Given the description of an element on the screen output the (x, y) to click on. 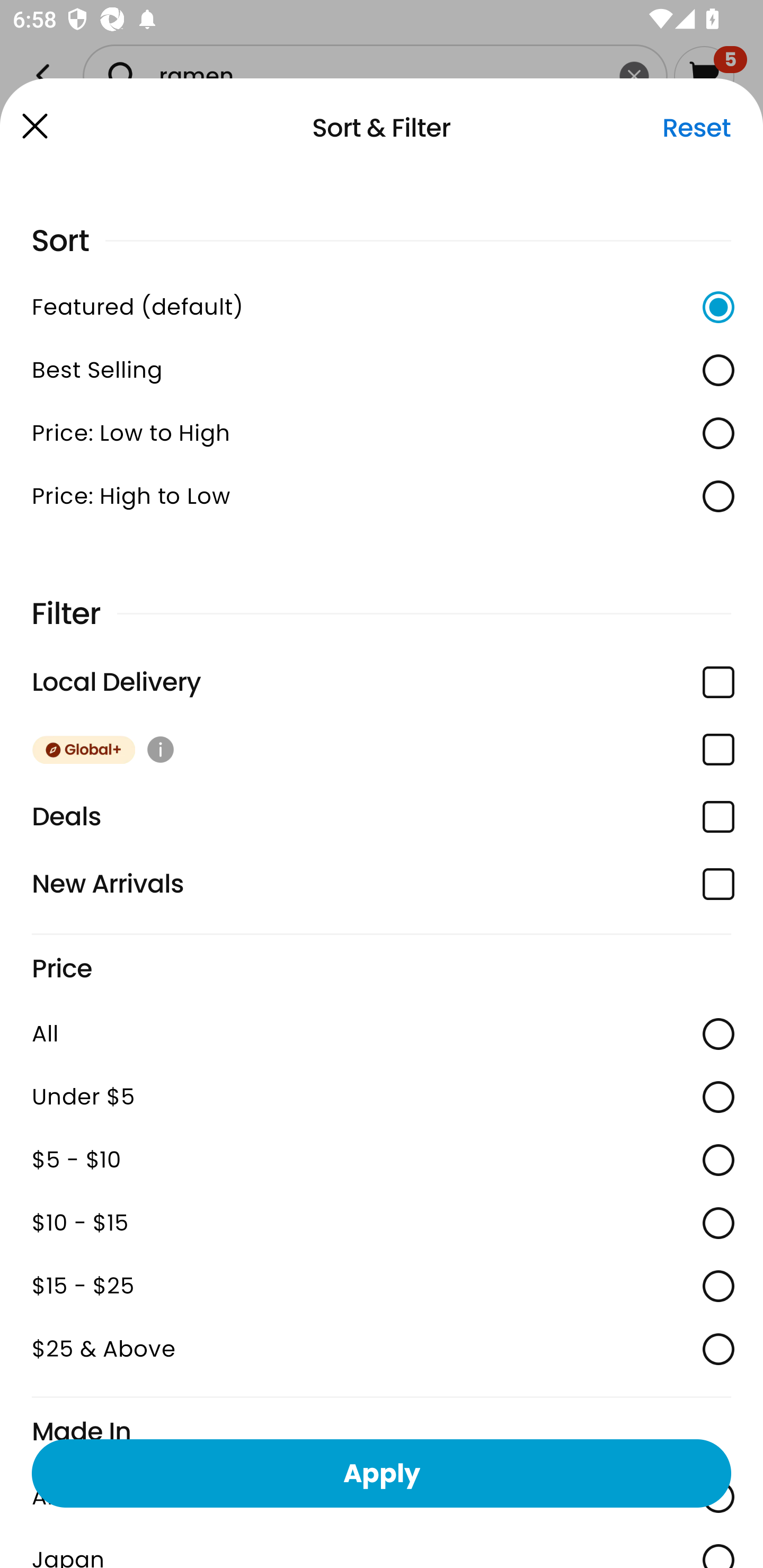
Reset (696, 127)
Apply (381, 1472)
